Given the description of an element on the screen output the (x, y) to click on. 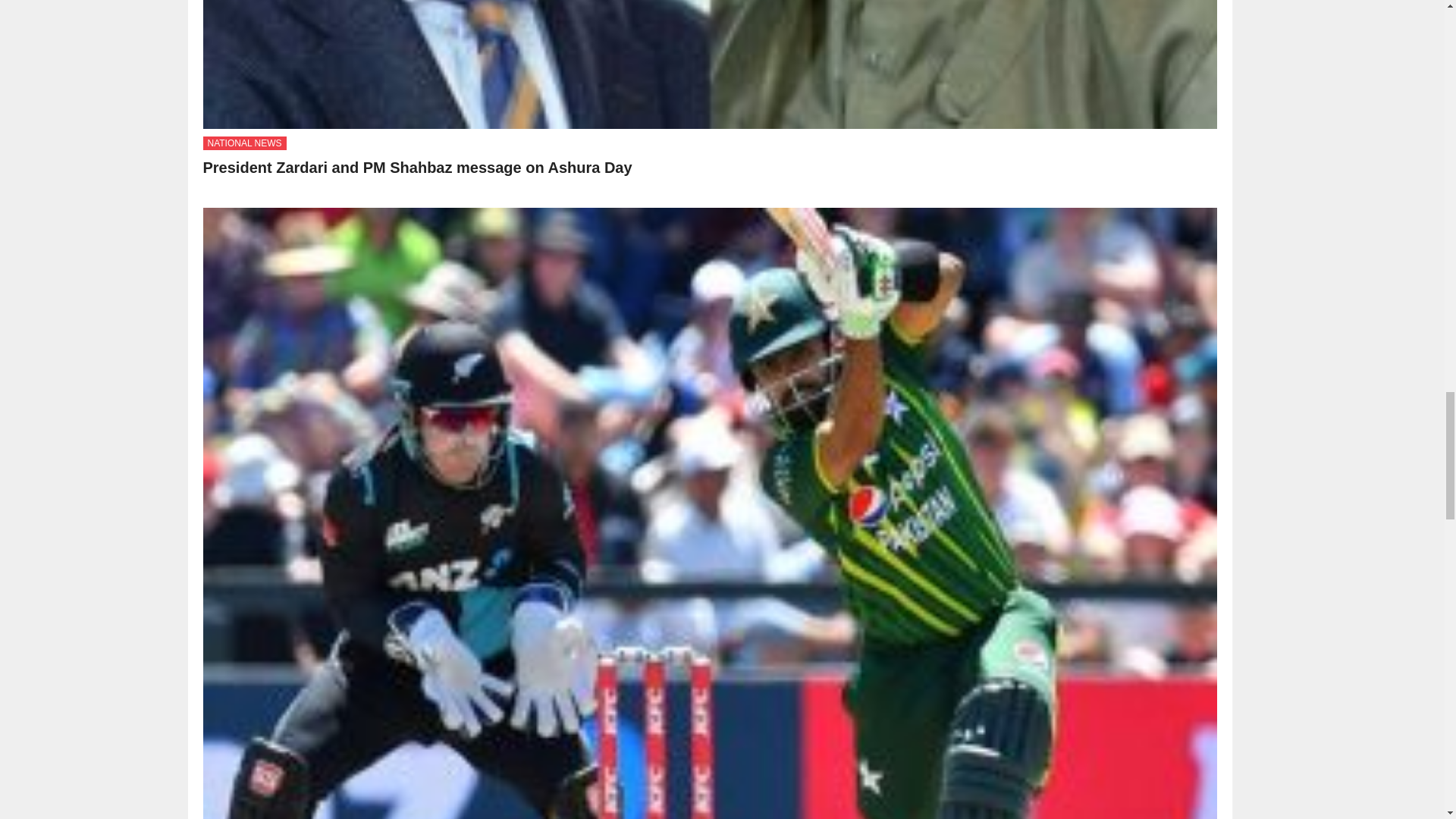
NATIONAL NEWS (244, 142)
President Zardari and PM Shahbaz message on Ashura Day (417, 167)
President Zardari and PM Shahbaz message on Ashura Day (417, 167)
